Given the description of an element on the screen output the (x, y) to click on. 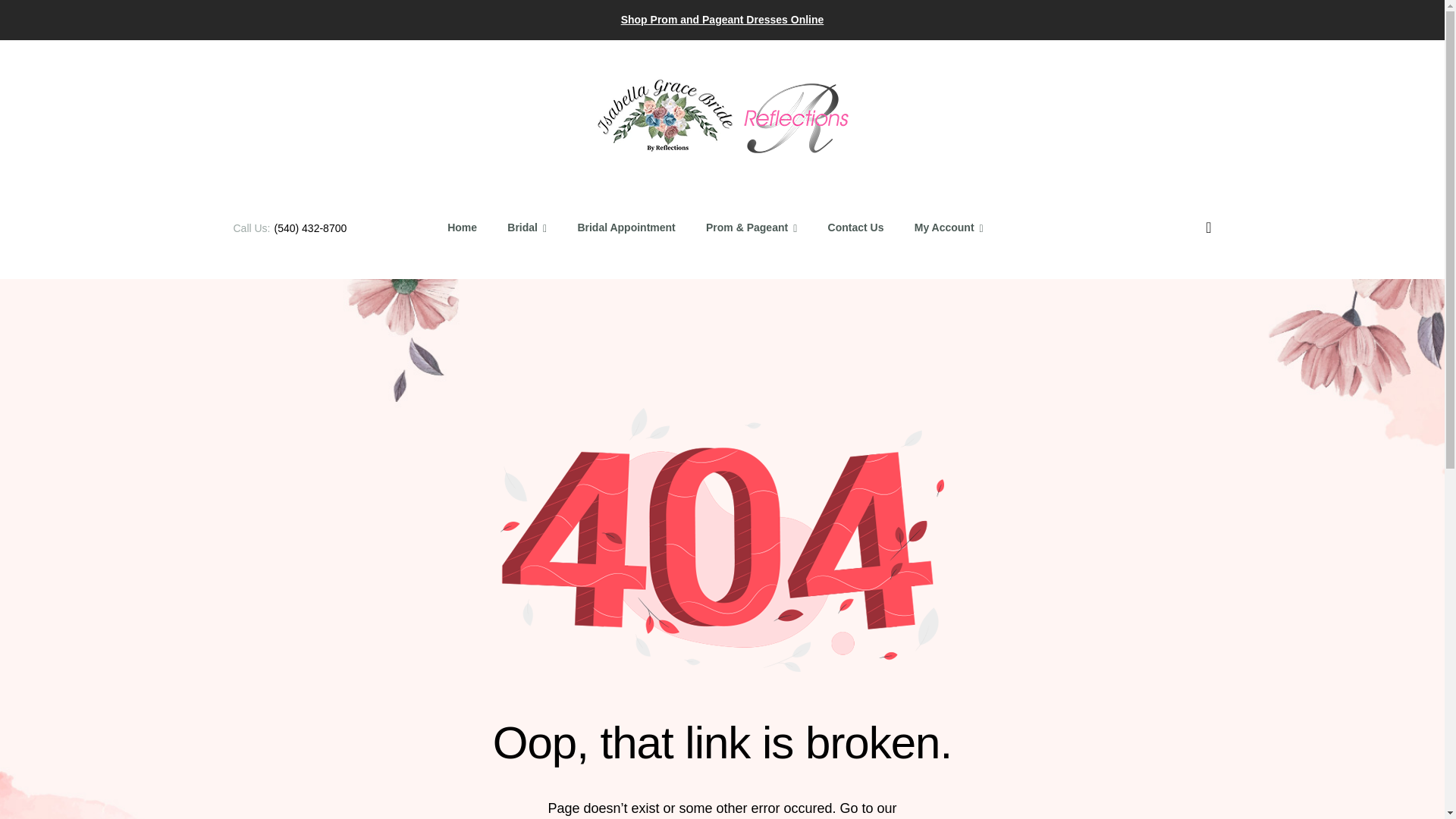
My Account (949, 228)
Bridal (526, 228)
Contact Us (854, 228)
Bridal Appointment (625, 228)
Shop Prom and Pageant Dresses Online (722, 19)
Home (461, 228)
